Given the description of an element on the screen output the (x, y) to click on. 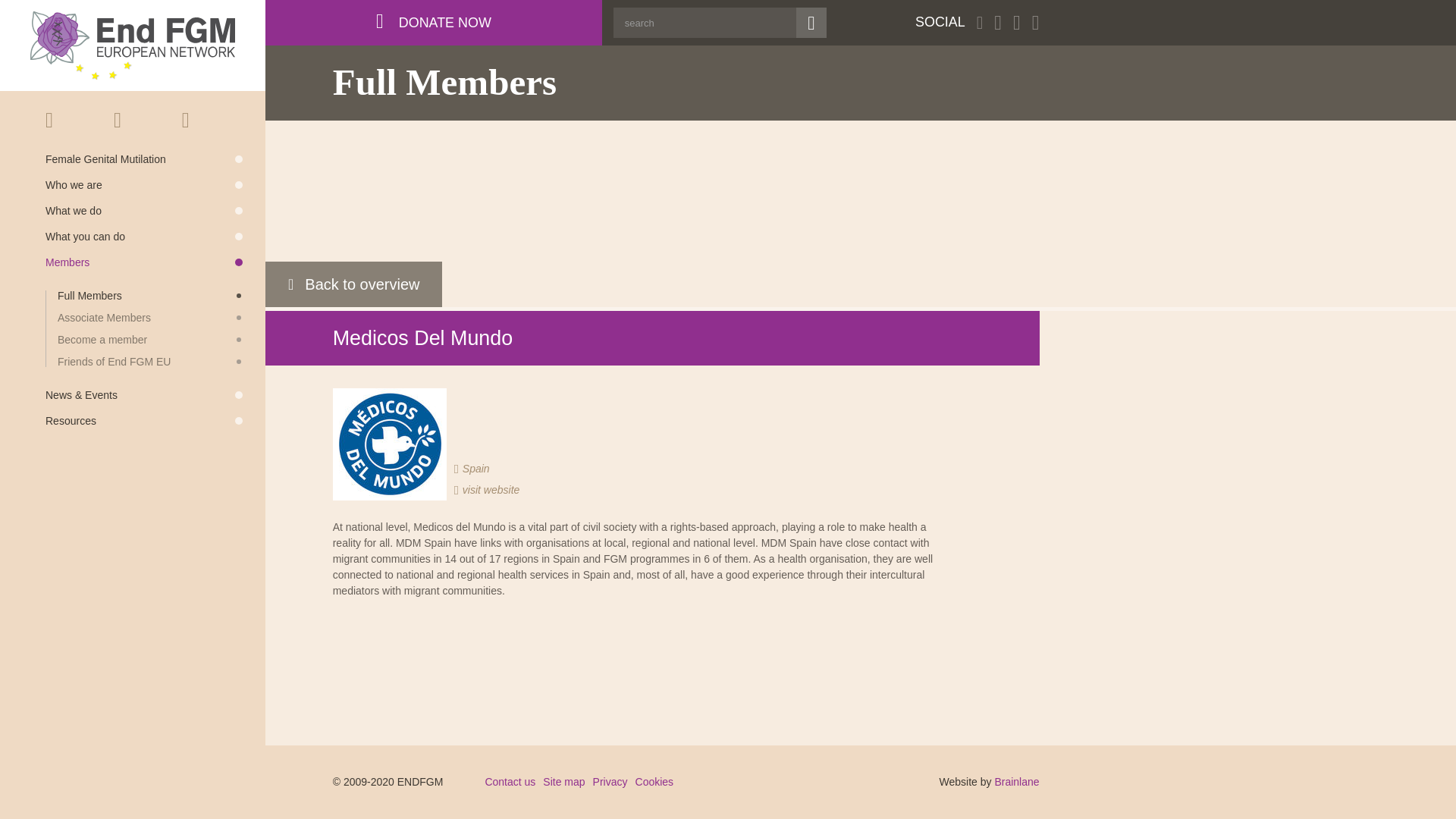
Contact (117, 120)
Friends of End FGM EU (150, 361)
Sitemap (165, 120)
Members (144, 262)
Female Genital Mutilation (144, 158)
Who we are (144, 184)
Become a member (150, 339)
Female Genital Mutilation (144, 158)
What we do (144, 210)
What we do (144, 210)
